Given the description of an element on the screen output the (x, y) to click on. 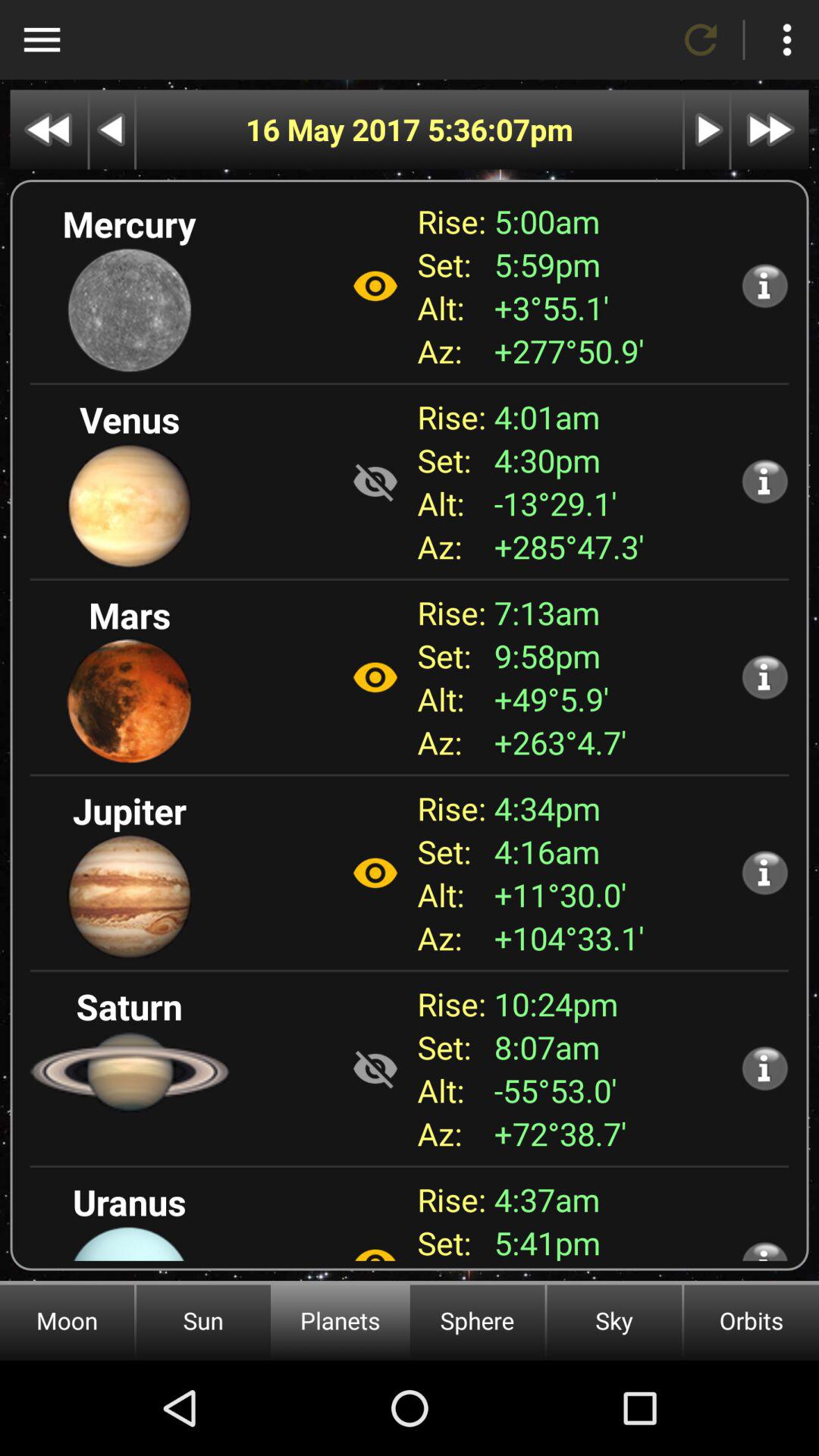
notification (764, 677)
